Given the description of an element on the screen output the (x, y) to click on. 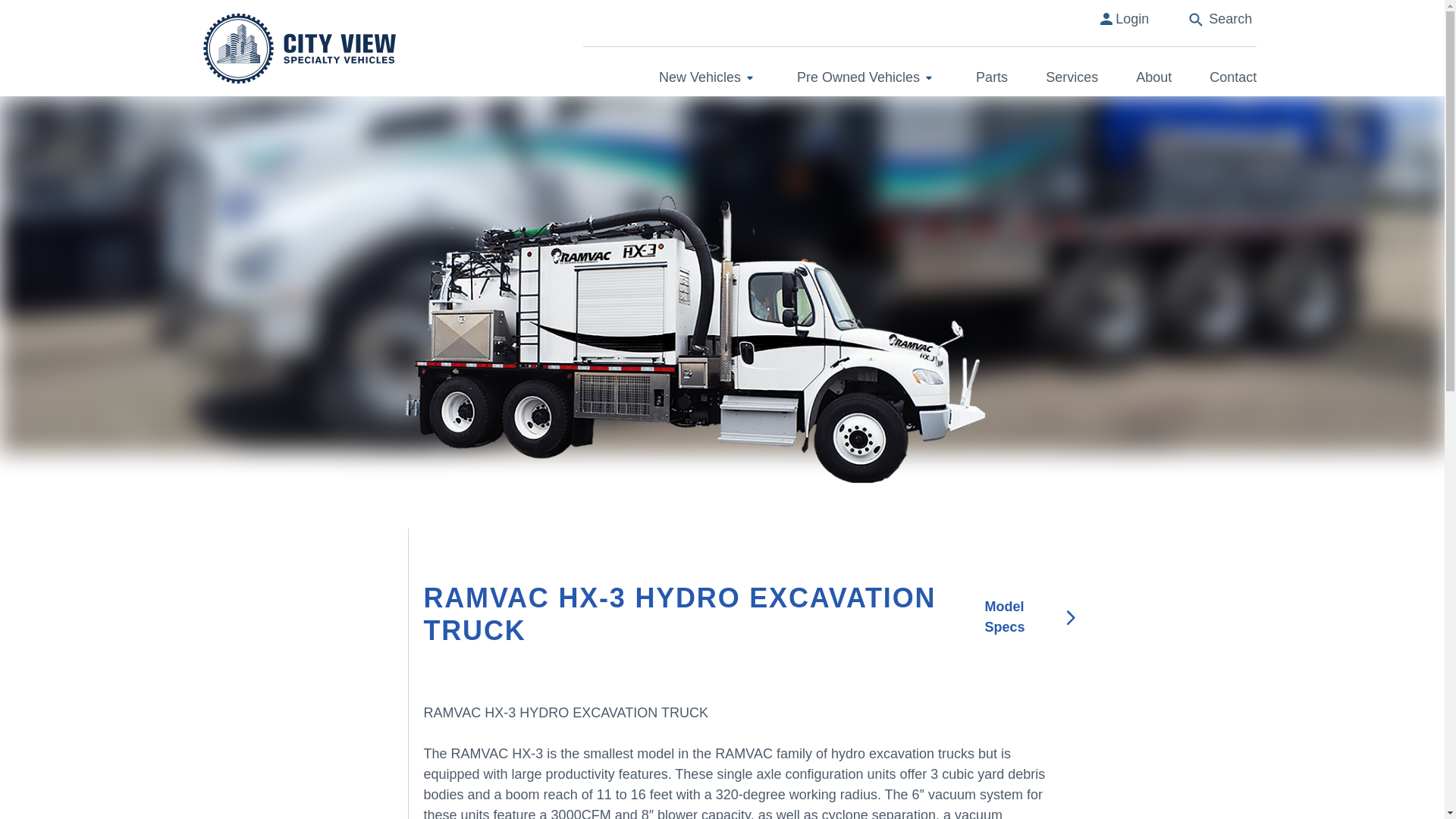
Pre Owned Vehicles (866, 75)
About (1153, 77)
Search (1221, 19)
Contact (1232, 77)
Home (298, 47)
New Vehicles (708, 75)
Search (1229, 22)
Services (1071, 77)
Login (1131, 19)
Parts (991, 77)
